Given the description of an element on the screen output the (x, y) to click on. 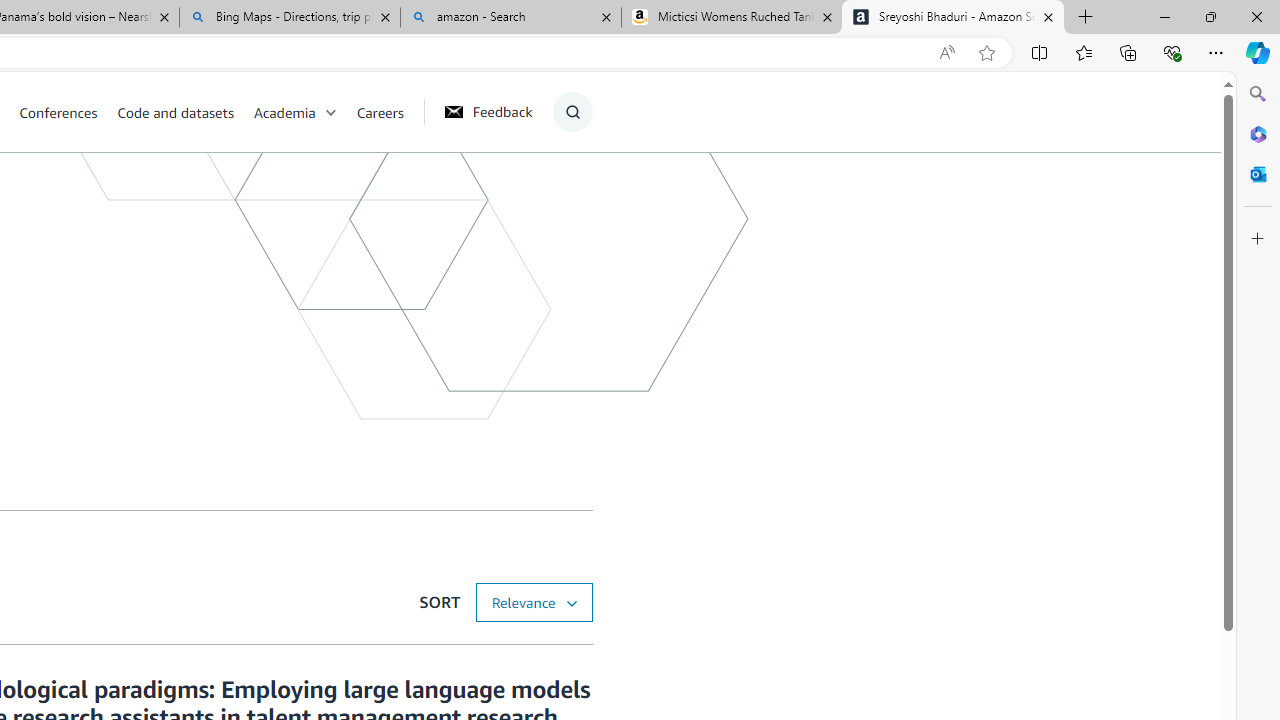
Academia (284, 111)
Conferences (58, 111)
amazon - Search (510, 17)
Sreyoshi Bhaduri - Amazon Science (953, 17)
Code and datasets (175, 111)
